Given the description of an element on the screen output the (x, y) to click on. 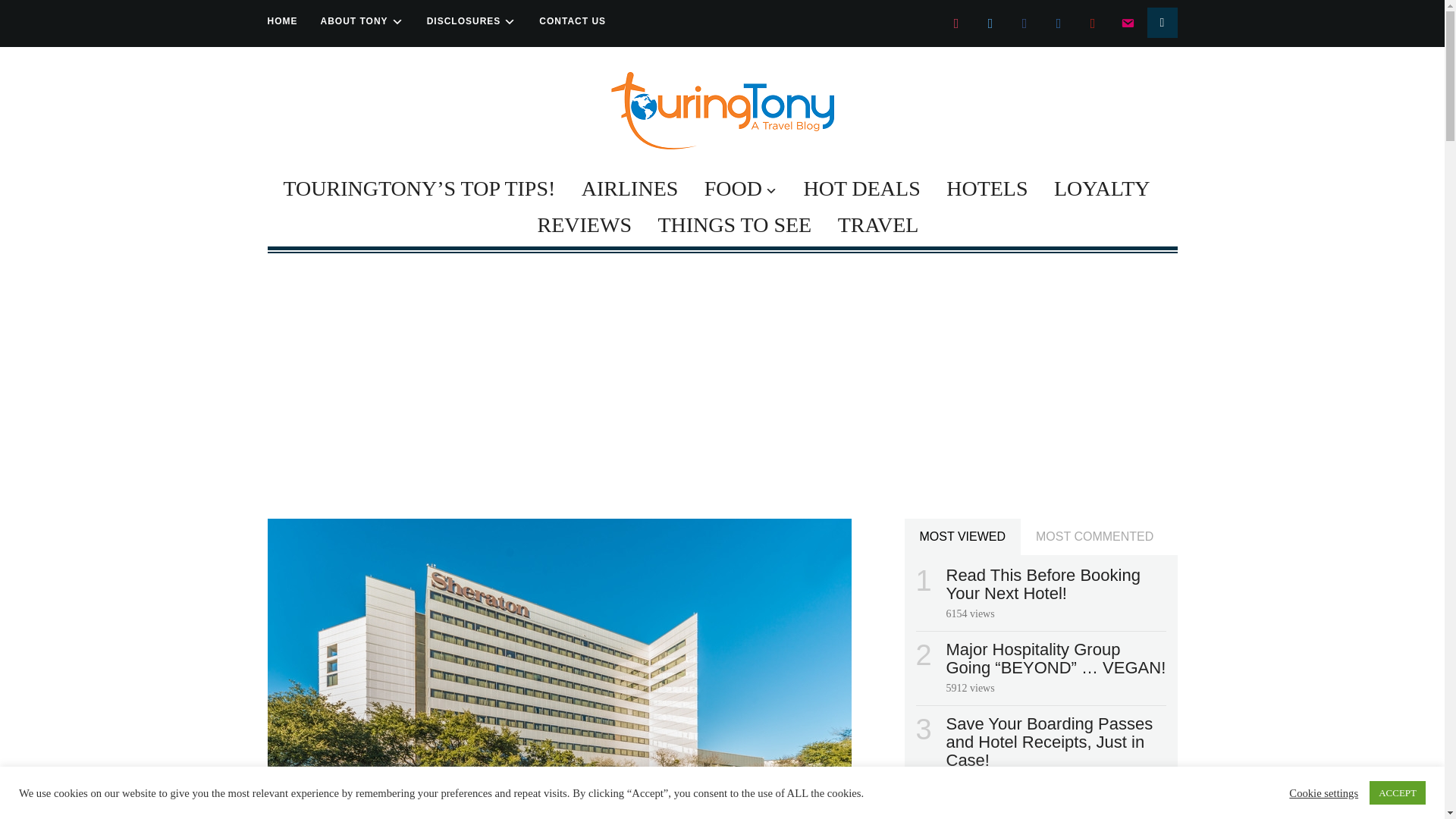
REVIEWS (584, 225)
PINTEREST (1092, 22)
HOT DEALS (861, 188)
EMAIL (1127, 22)
Most Commented  (1094, 536)
AIRLINES (629, 188)
CONTACT US (571, 21)
Twitter (991, 22)
Default Label (1092, 22)
DISCLOSURES (471, 21)
INSTAGRAM (956, 22)
Facebook (1023, 22)
Search (1161, 22)
HOTELS (986, 188)
